Given the description of an element on the screen output the (x, y) to click on. 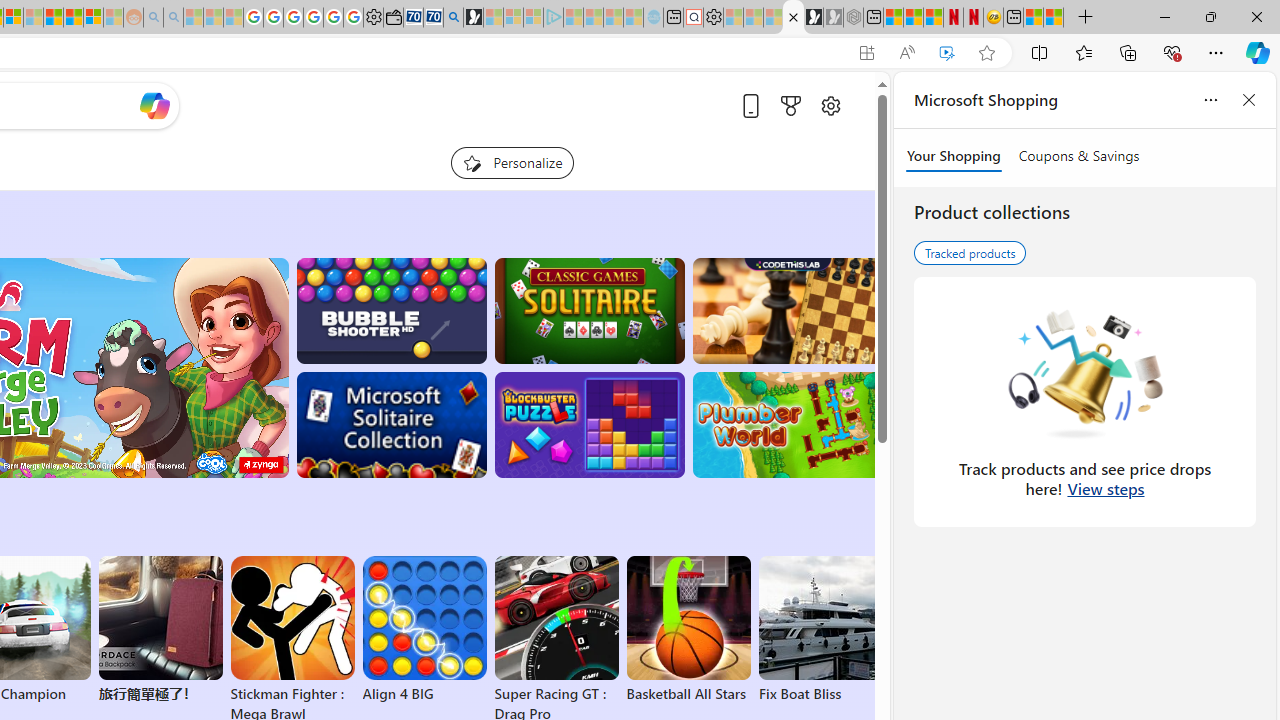
App available. Install Games from Microsoft Start (867, 53)
Microsoft Solitaire Collection (390, 425)
Bubble Shooter HD (390, 310)
Personalize your feed" (511, 162)
